Given the description of an element on the screen output the (x, y) to click on. 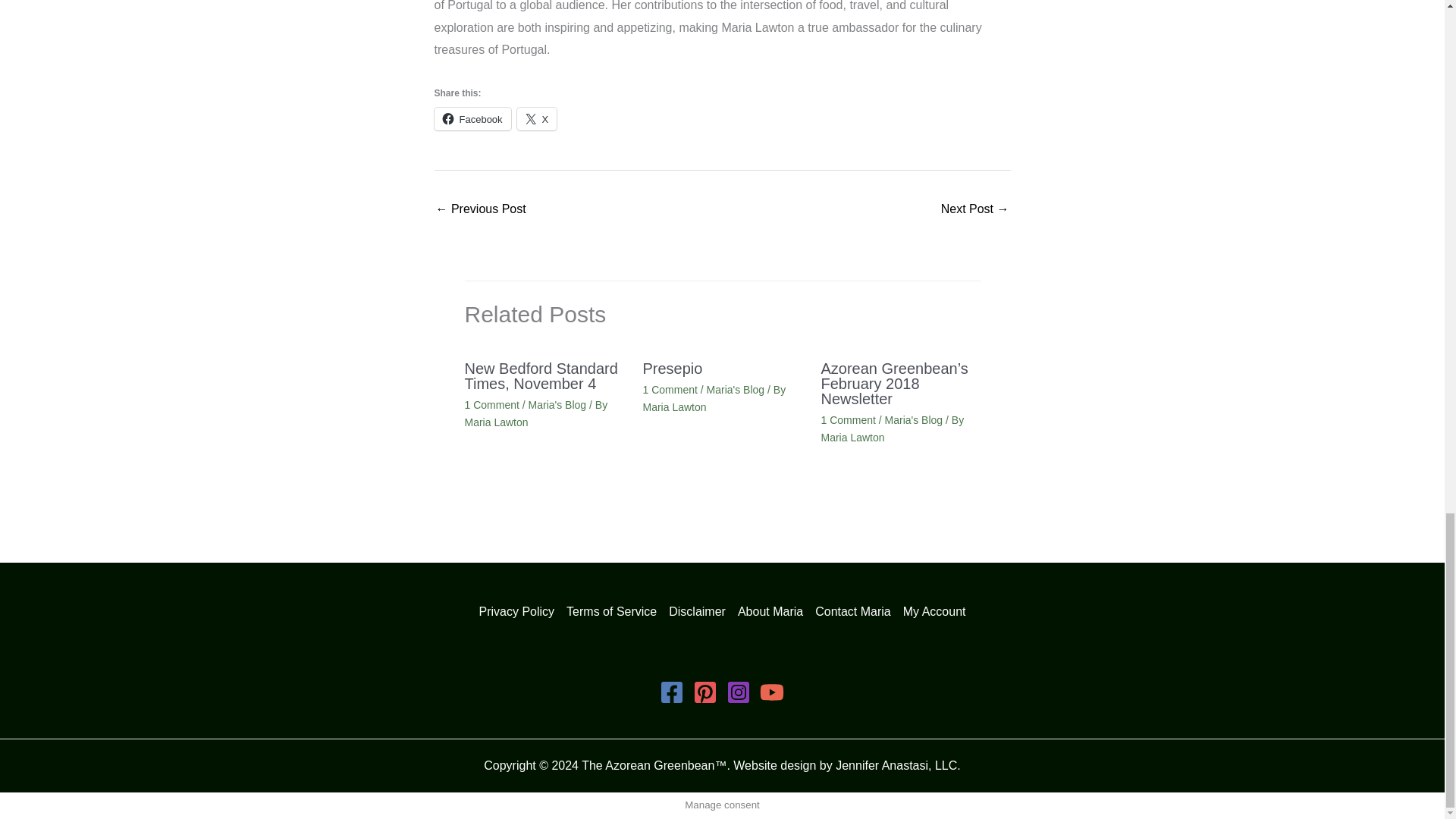
View all posts by Maria Lawton (674, 407)
View all posts by Maria Lawton (495, 422)
Click to share on Facebook (472, 118)
Click to share on X (536, 118)
Whale Tales from the Azores Islands in Portugal (974, 210)
Azorean Lace Weaves Its Way Throughout Portuguese Culture (480, 210)
View all posts by Maria Lawton (852, 437)
